Given the description of an element on the screen output the (x, y) to click on. 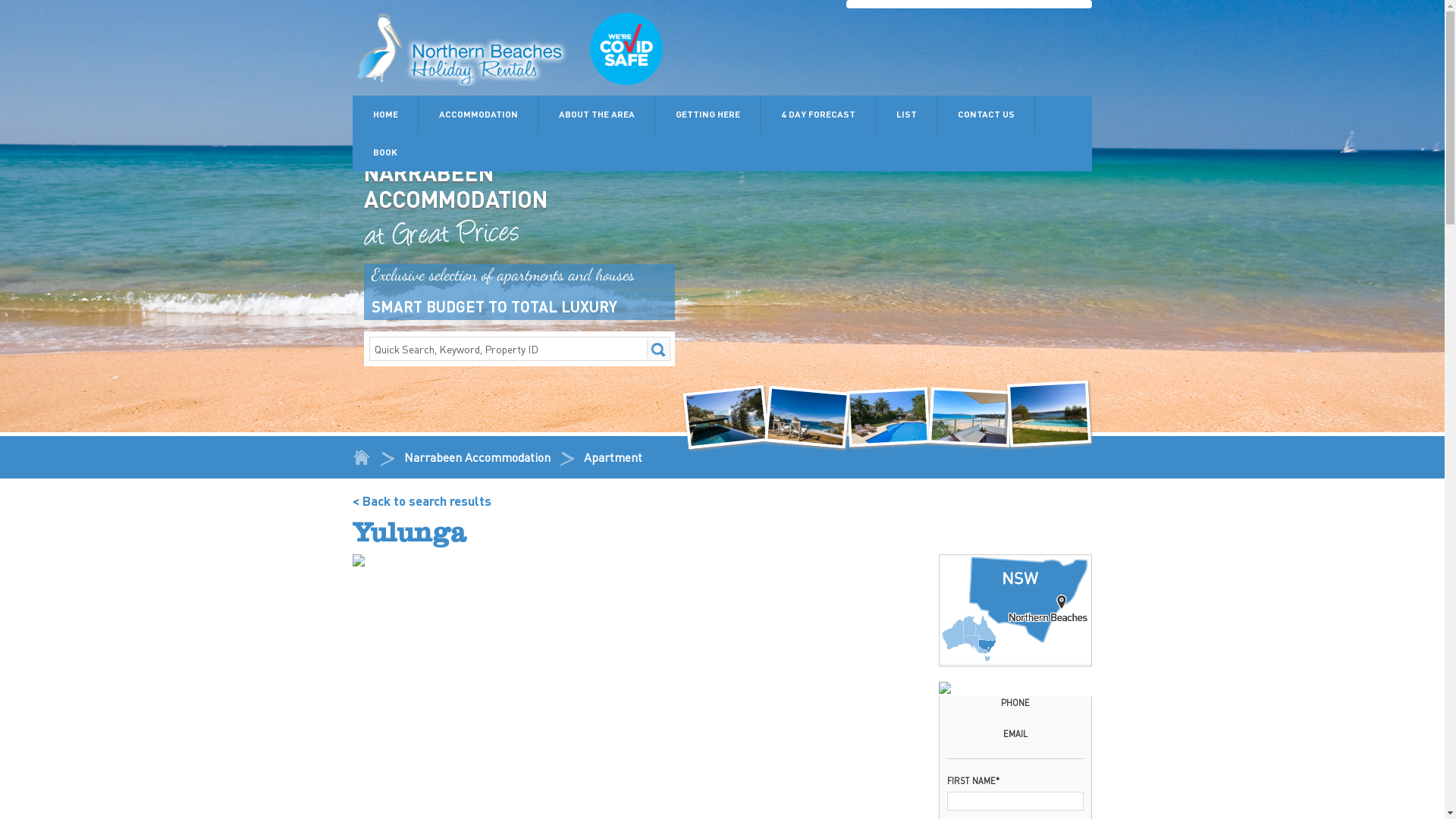
Northern Beaches Holiday Rentals Element type: hover (1047, 411)
Northern Beaches Holiday Rentals Element type: hover (804, 413)
Quick Search, Keyword, Property ID Element type: text (519, 348)
Northern Beaches Holiday Rentals Element type: hover (722, 413)
Northern Beaches Holiday Rentals Element type: hover (886, 414)
ABOUT THE AREA Element type: text (596, 114)
Home Element type: text (361, 458)
ACCOMMODATION Element type: text (478, 114)
HOME Element type: text (385, 114)
4 DAY FORECAST Element type: text (817, 114)
CONTACT US Element type: text (986, 114)
BOOK Element type: text (384, 152)
Apartment Element type: text (612, 457)
Northern Beaches Holiday Rentals - Sydney Element type: hover (511, 49)
Northern Beaches Holiday Rentals Element type: hover (968, 414)
LIST Element type: text (906, 114)
< Back to search results Element type: text (421, 500)
Narrabeen Accommodation Element type: text (477, 457)
GETTING HERE Element type: text (707, 114)
